Given the description of an element on the screen output the (x, y) to click on. 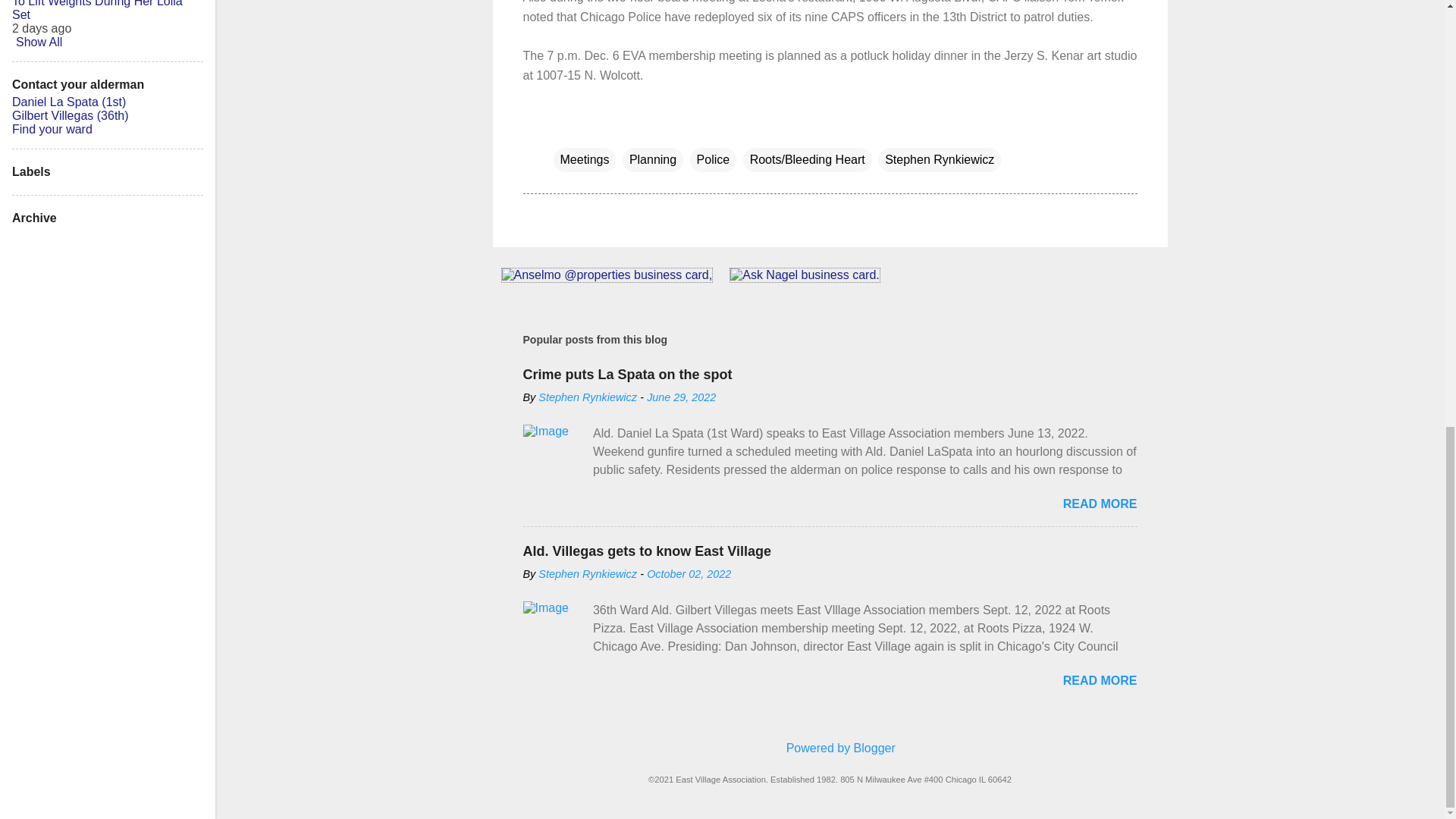
Stephen Rynkiewicz (587, 573)
Ald. Villegas gets to know East Village (646, 550)
October 02, 2022 (688, 573)
Stephen Rynkiewicz (587, 397)
Crime puts La Spata on the spot (627, 374)
Police (713, 159)
Powered by Blogger (829, 748)
June 29, 2022 (681, 397)
Email Post (562, 128)
Planning (652, 159)
READ MORE (1099, 503)
READ MORE (1099, 680)
Stephen Rynkiewicz (939, 159)
Meetings (584, 159)
